Given the description of an element on the screen output the (x, y) to click on. 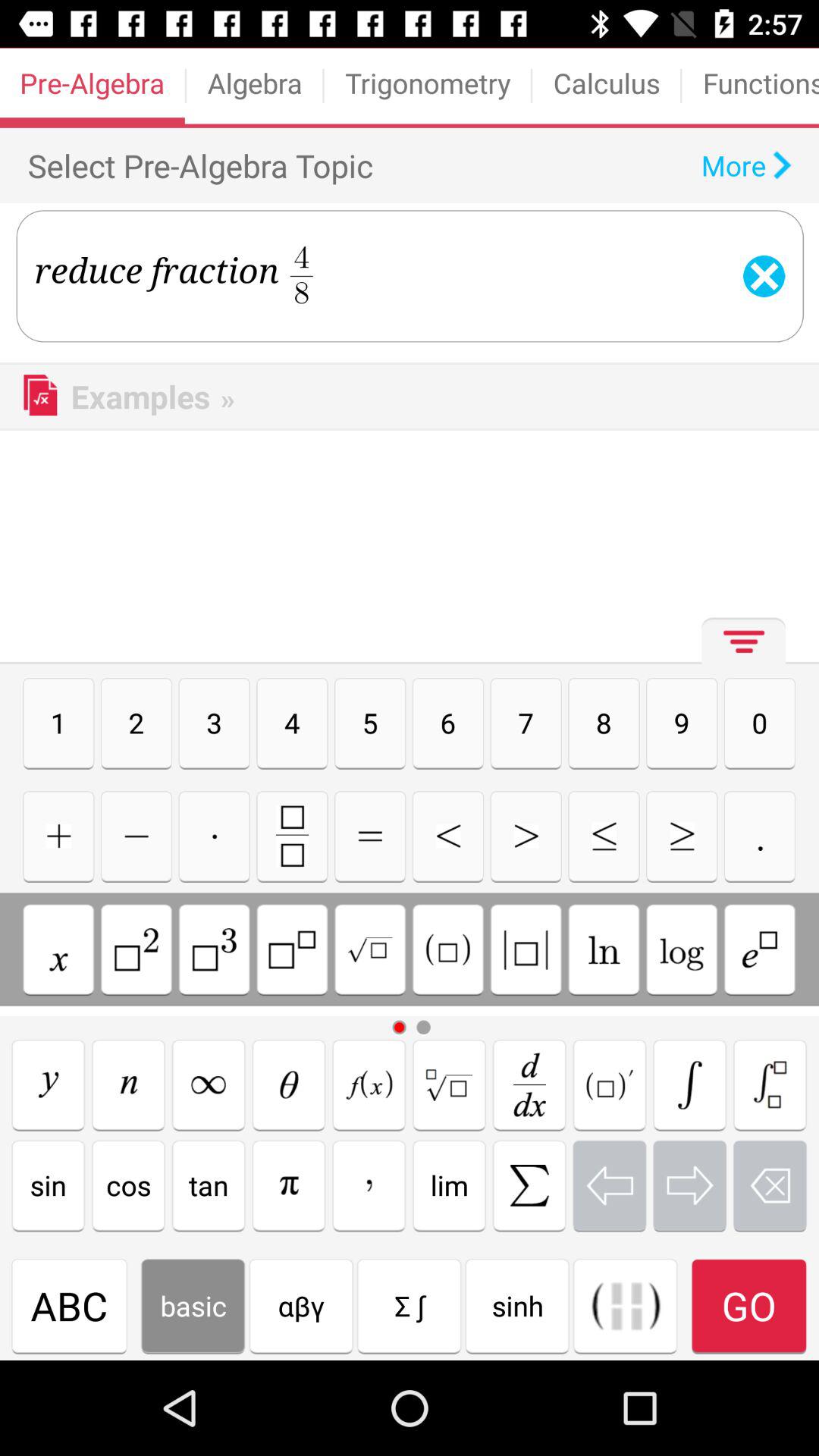
equal sign (370, 835)
